Given the description of an element on the screen output the (x, y) to click on. 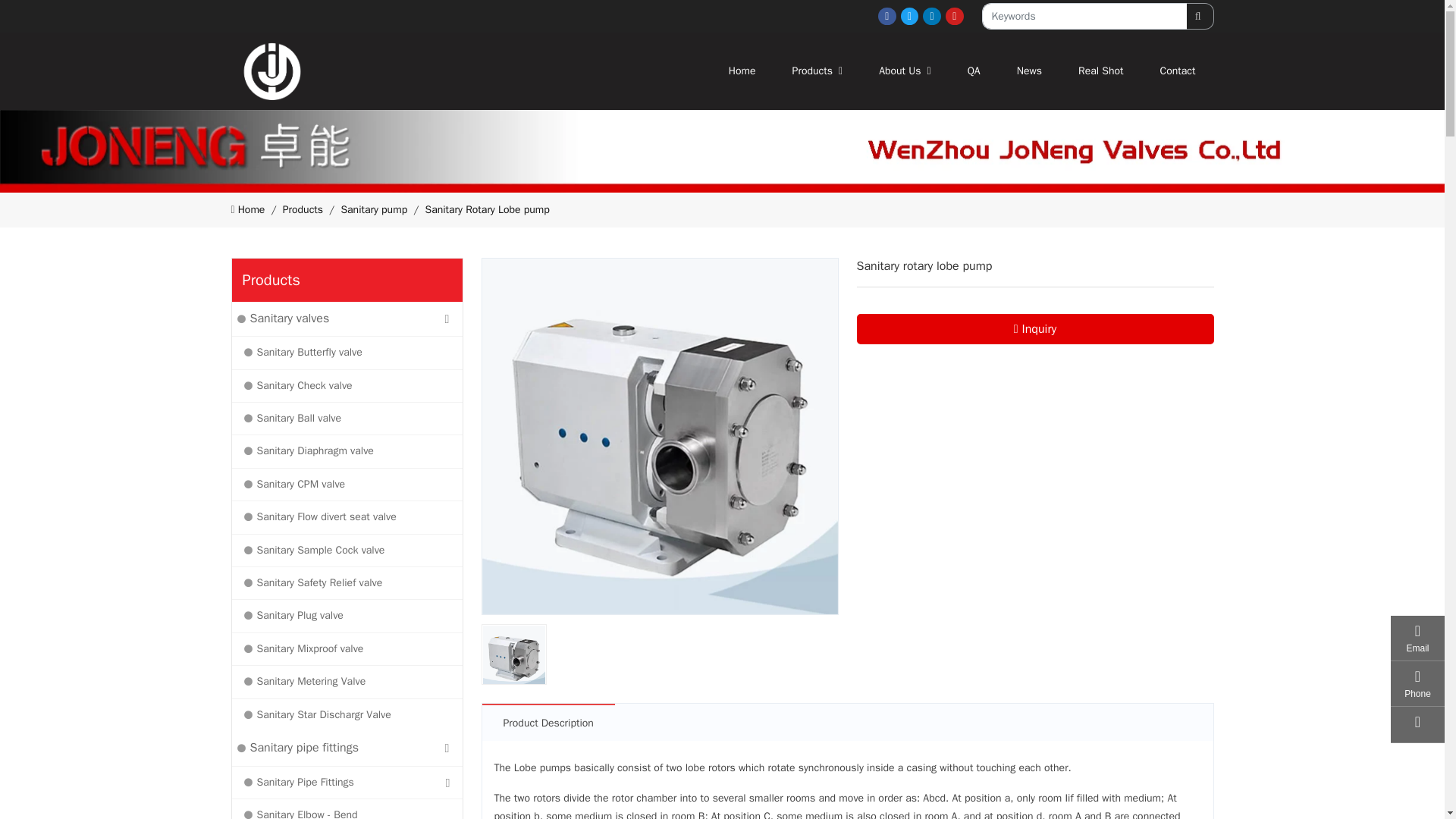
Facebook (886, 16)
Home (742, 70)
LinkedIn (962, 70)
Sanitary rotary lobe pump (931, 16)
Twitter (659, 436)
Youtube (909, 16)
Products (953, 16)
